Given the description of an element on the screen output the (x, y) to click on. 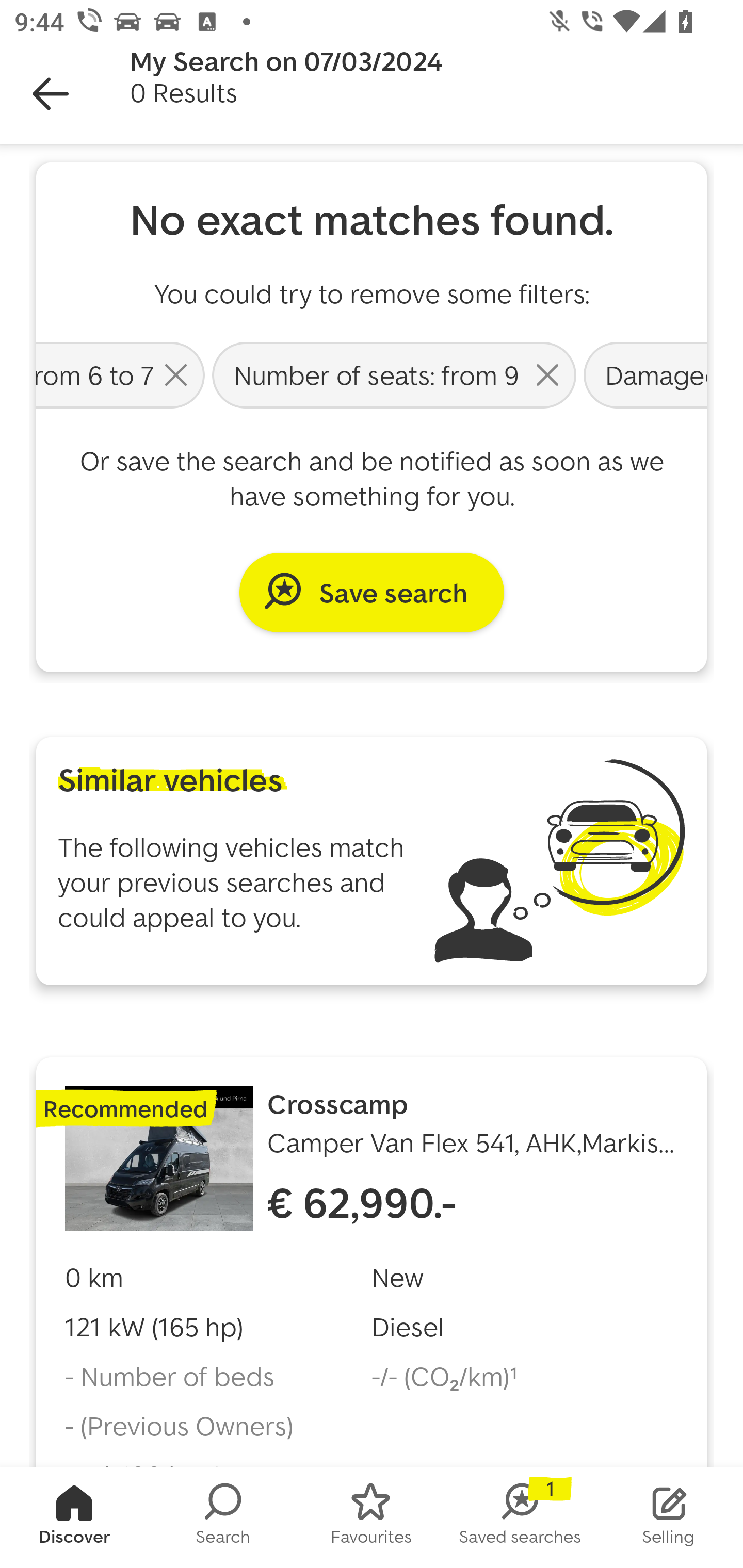
Navigate up (50, 93)
Door count: from 6 to 7 (122, 374)
Number of seats: from 9  (394, 374)
Damaged vehicle: Show also (643, 374)
Save search (371, 592)
HOMESCREEN Discover (74, 1517)
SEARCH Search (222, 1517)
FAVORITES Favourites (371, 1517)
SAVED_SEARCHES Saved searches 1 (519, 1517)
STOCK_LIST Selling (668, 1517)
